Given the description of an element on the screen output the (x, y) to click on. 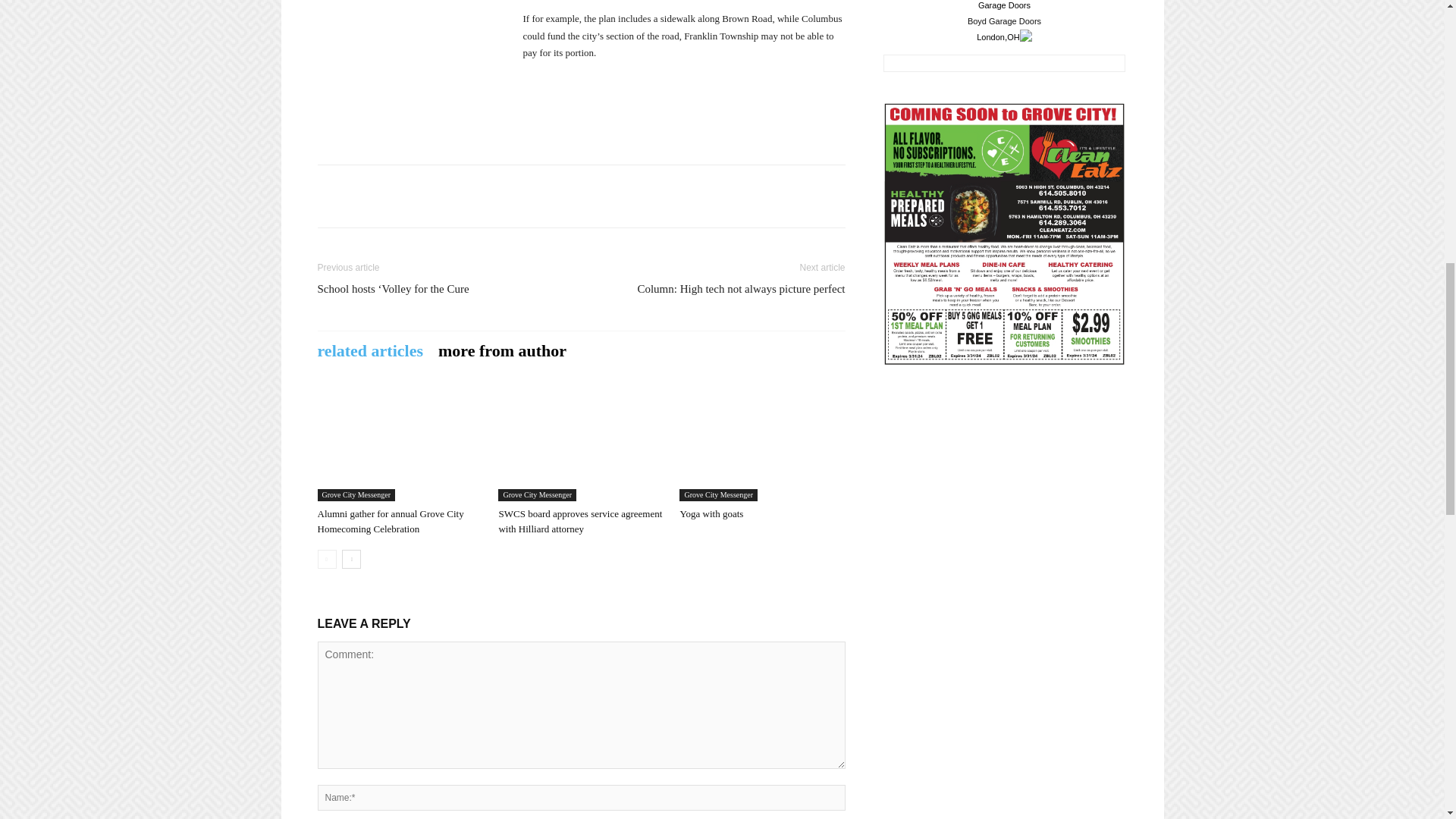
SWCS board approves service agreement with Hilliard attorney (580, 444)
Alumni gather for annual Grove City Homecoming Celebration (390, 520)
Alumni gather for annual Grove City Homecoming Celebration (399, 444)
